Given the description of an element on the screen output the (x, y) to click on. 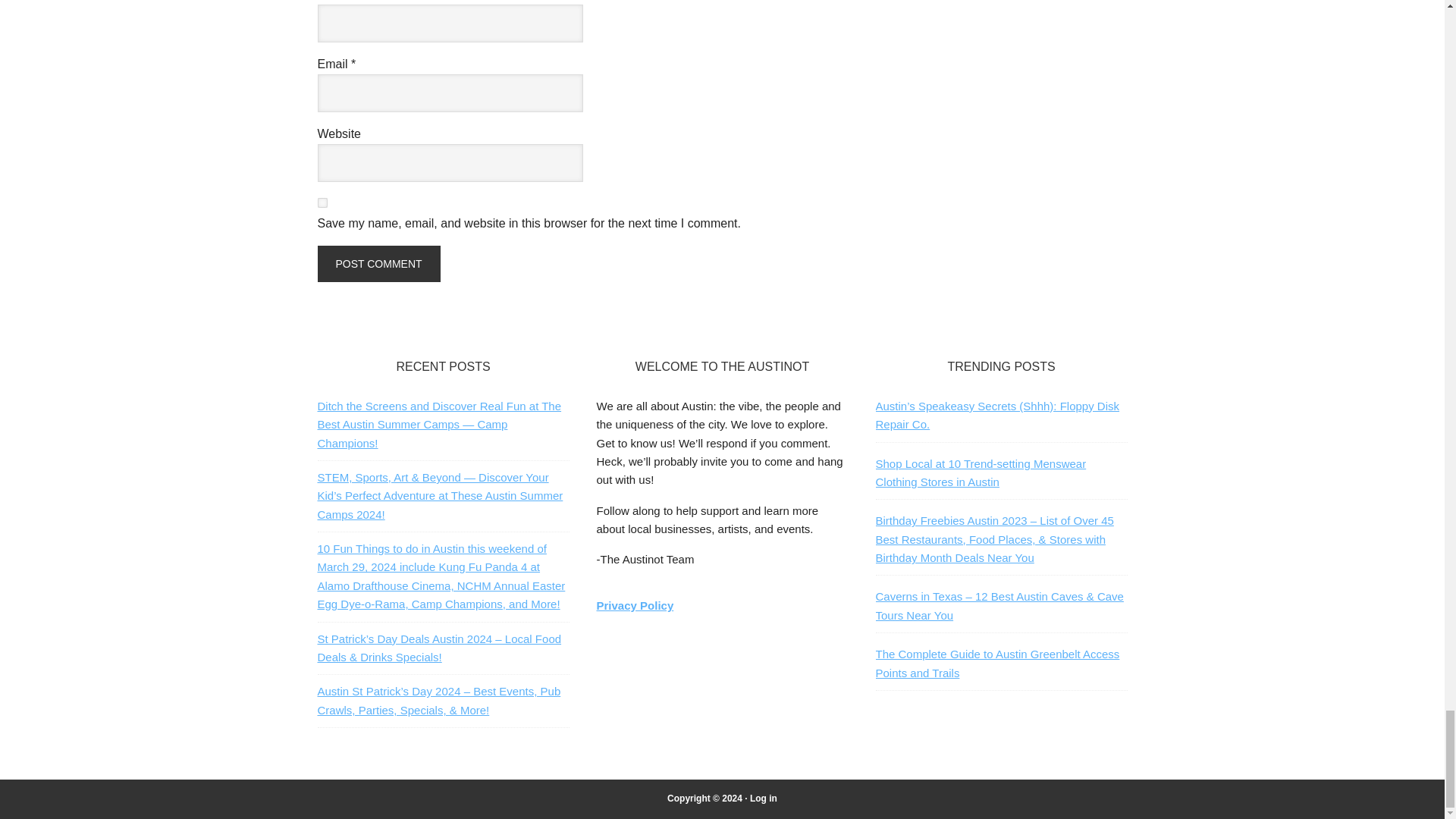
Post Comment (378, 263)
yes (321, 203)
